Given the description of an element on the screen output the (x, y) to click on. 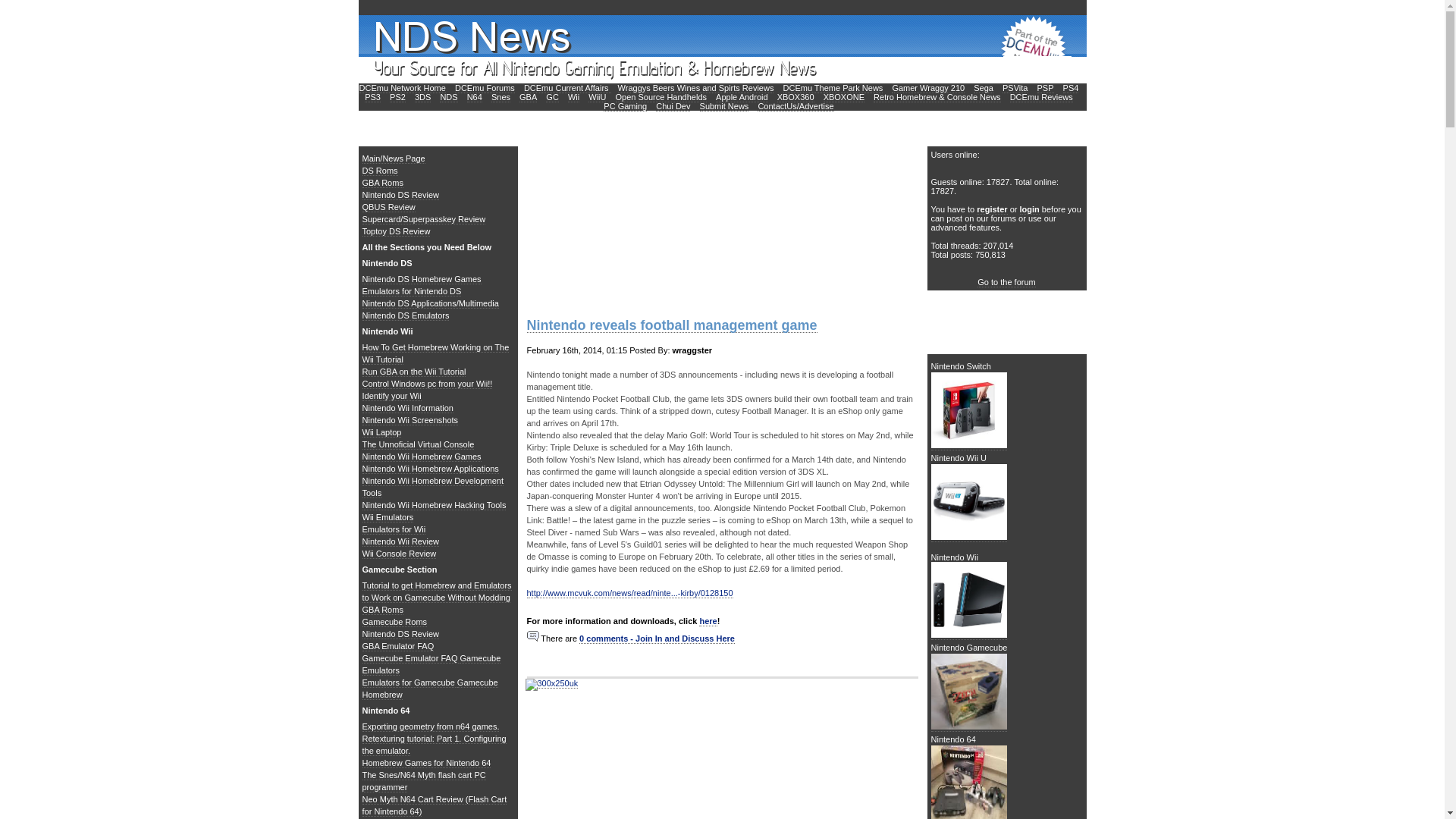
PS4 (1070, 88)
Nintendo DS Homebrew Games (421, 279)
Emulators for Nintendo DS (411, 291)
PC Gaming (625, 106)
Sega (983, 88)
DCEmu Reviews (1041, 97)
Nintendo DS Review (400, 194)
DCEmu Current Affairs (567, 88)
DCEmu Forums (484, 88)
GBA Roms (382, 183)
